Given the description of an element on the screen output the (x, y) to click on. 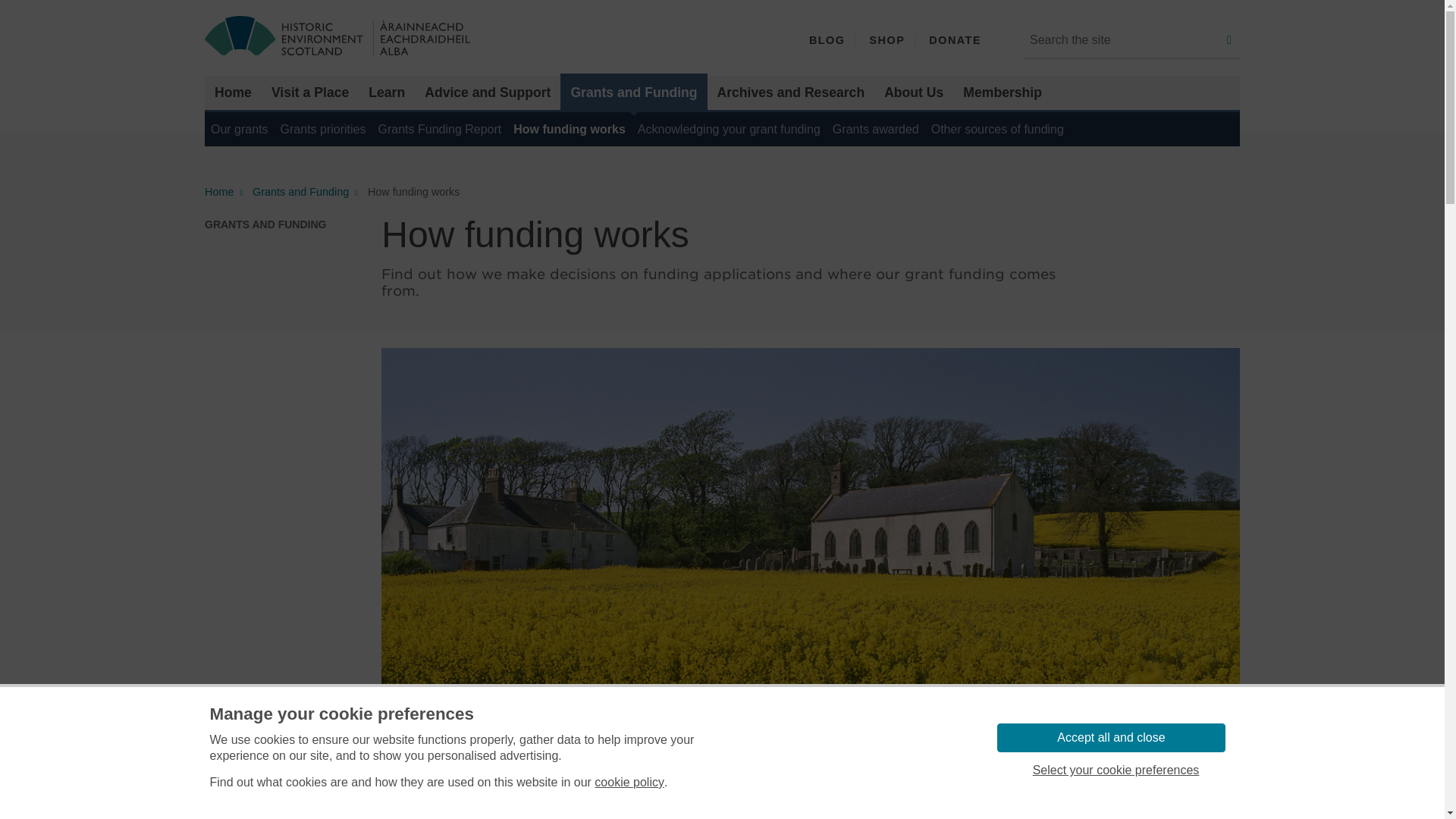
Advice and Support (487, 92)
Learn (386, 92)
Select your cookie preferences (1114, 770)
Visit a Place (310, 92)
Home (233, 92)
cookie policy (628, 782)
Accept all and close (1110, 737)
